Given the description of an element on the screen output the (x, y) to click on. 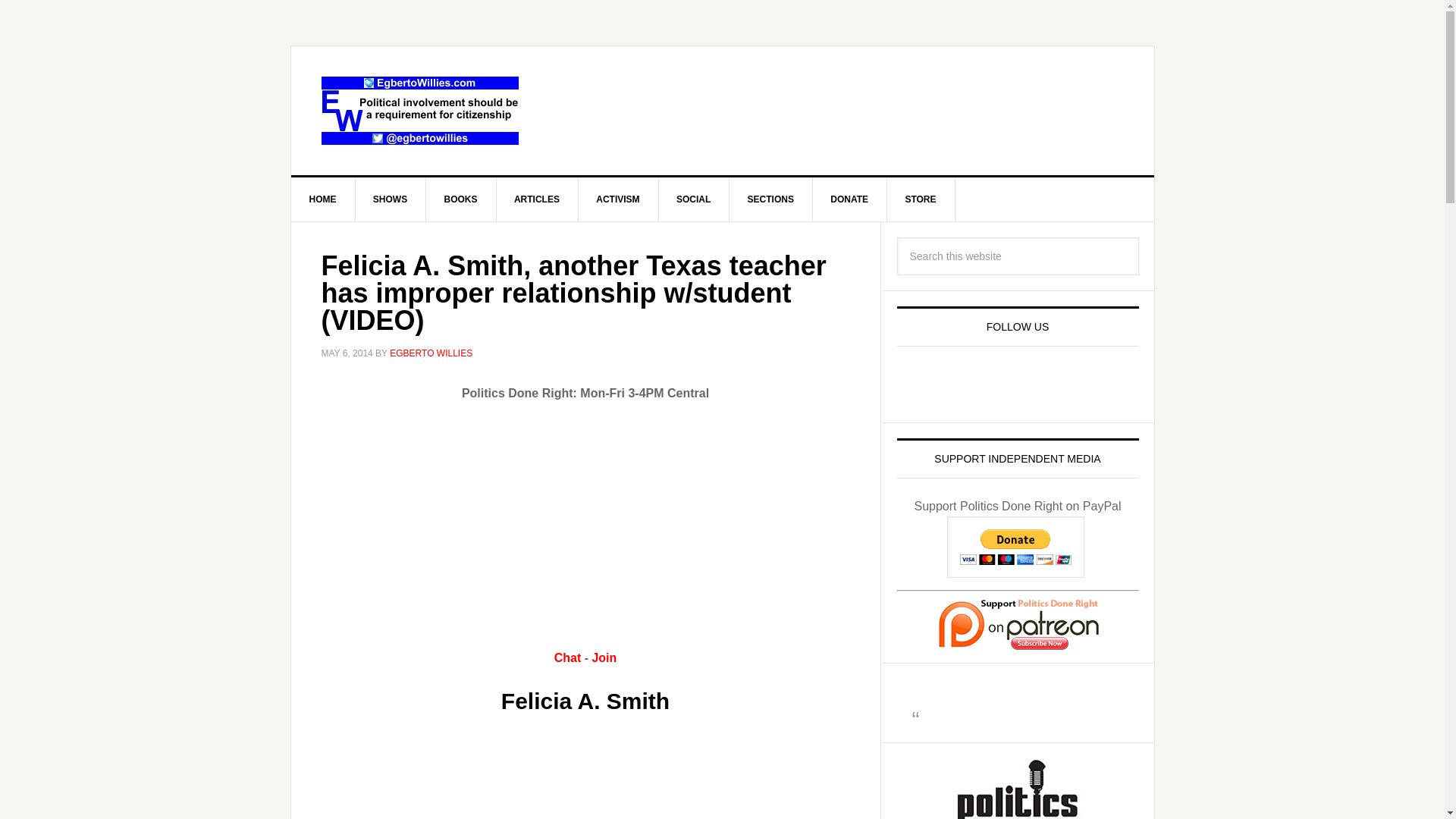
PayPal - The safer, easier way to pay online! (1015, 547)
BOOKS (461, 199)
HOME (323, 199)
SOCIAL (693, 199)
SHOWS (390, 199)
ACTIVISM (618, 199)
ARTICLES (537, 199)
EGBERTOWILLIES.COM (419, 110)
